Given the description of an element on the screen output the (x, y) to click on. 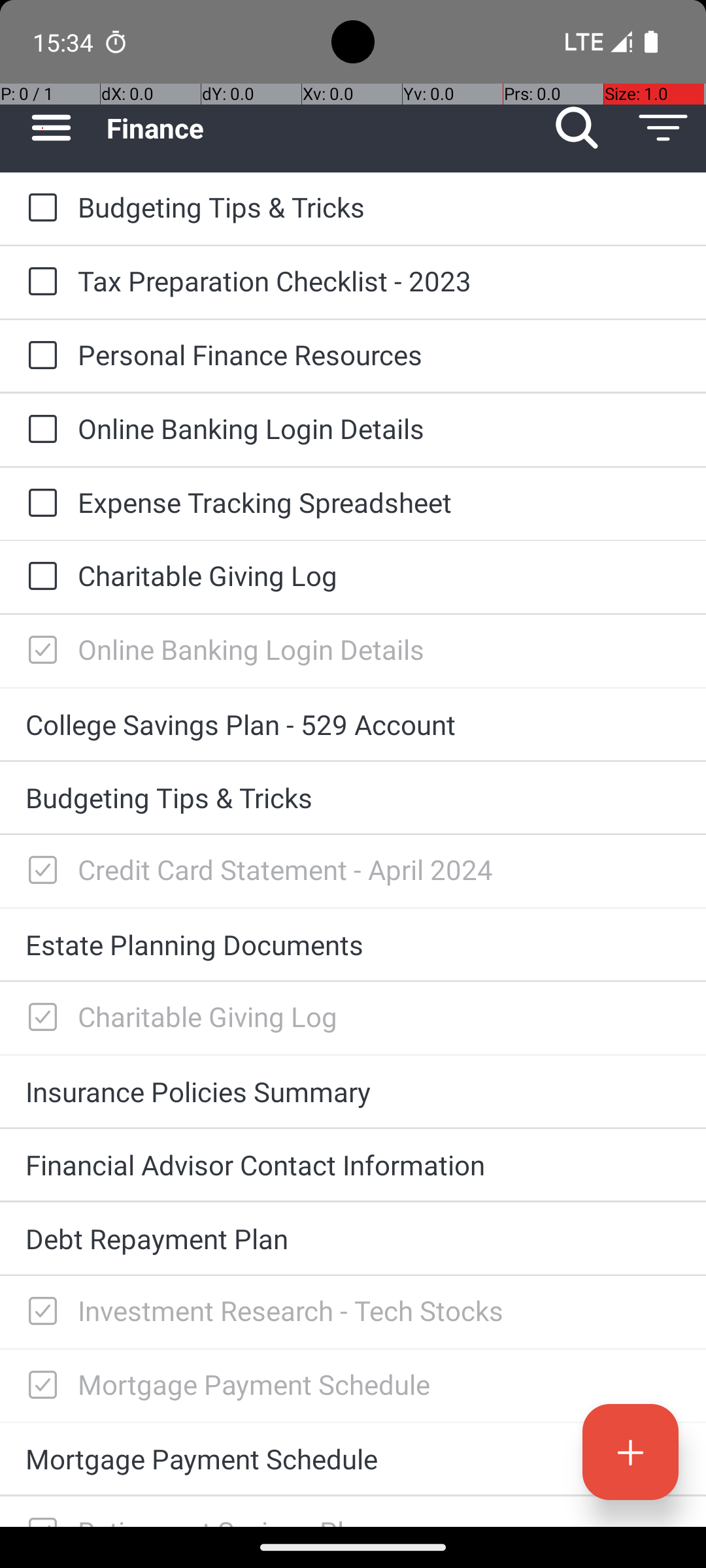
to-do: Budgeting Tips & Tricks Element type: android.widget.CheckBox (38, 208)
Budgeting Tips & Tricks Element type: android.widget.TextView (378, 206)
to-do: Tax Preparation Checklist - 2023 Element type: android.widget.CheckBox (38, 282)
Tax Preparation Checklist - 2023 Element type: android.widget.TextView (378, 280)
to-do: Personal Finance Resources Element type: android.widget.CheckBox (38, 356)
Personal Finance Resources Element type: android.widget.TextView (378, 354)
to-do: Online Banking Login Details Element type: android.widget.CheckBox (38, 429)
Online Banking Login Details Element type: android.widget.TextView (378, 427)
to-do: Expense Tracking Spreadsheet Element type: android.widget.CheckBox (38, 503)
Expense Tracking Spreadsheet Element type: android.widget.TextView (378, 501)
to-do: Charitable Giving Log Element type: android.widget.CheckBox (38, 576)
Charitable Giving Log Element type: android.widget.TextView (378, 574)
College Savings Plan - 529 Account Element type: android.widget.TextView (352, 723)
to-do: Credit Card Statement - April 2024 Element type: android.widget.CheckBox (38, 870)
Credit Card Statement - April 2024 Element type: android.widget.TextView (378, 868)
Estate Planning Documents Element type: android.widget.TextView (352, 944)
Insurance Policies Summary Element type: android.widget.TextView (352, 1091)
Debt Repayment Plan Element type: android.widget.TextView (352, 1238)
to-do: Investment Research - Tech Stocks Element type: android.widget.CheckBox (38, 1311)
Investment Research - Tech Stocks Element type: android.widget.TextView (378, 1309)
to-do: Mortgage Payment Schedule Element type: android.widget.CheckBox (38, 1385)
Mortgage Payment Schedule Element type: android.widget.TextView (378, 1383)
to-do: Retirement Savings Plan Element type: android.widget.CheckBox (38, 1511)
Retirement Savings Plan Element type: android.widget.TextView (378, 1519)
